Given the description of an element on the screen output the (x, y) to click on. 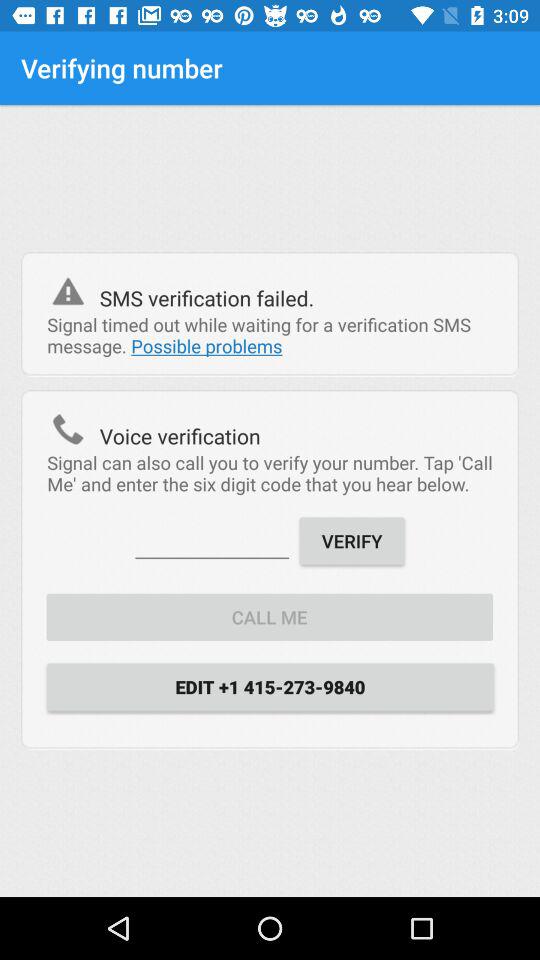
scroll until signal timed out icon (270, 335)
